Given the description of an element on the screen output the (x, y) to click on. 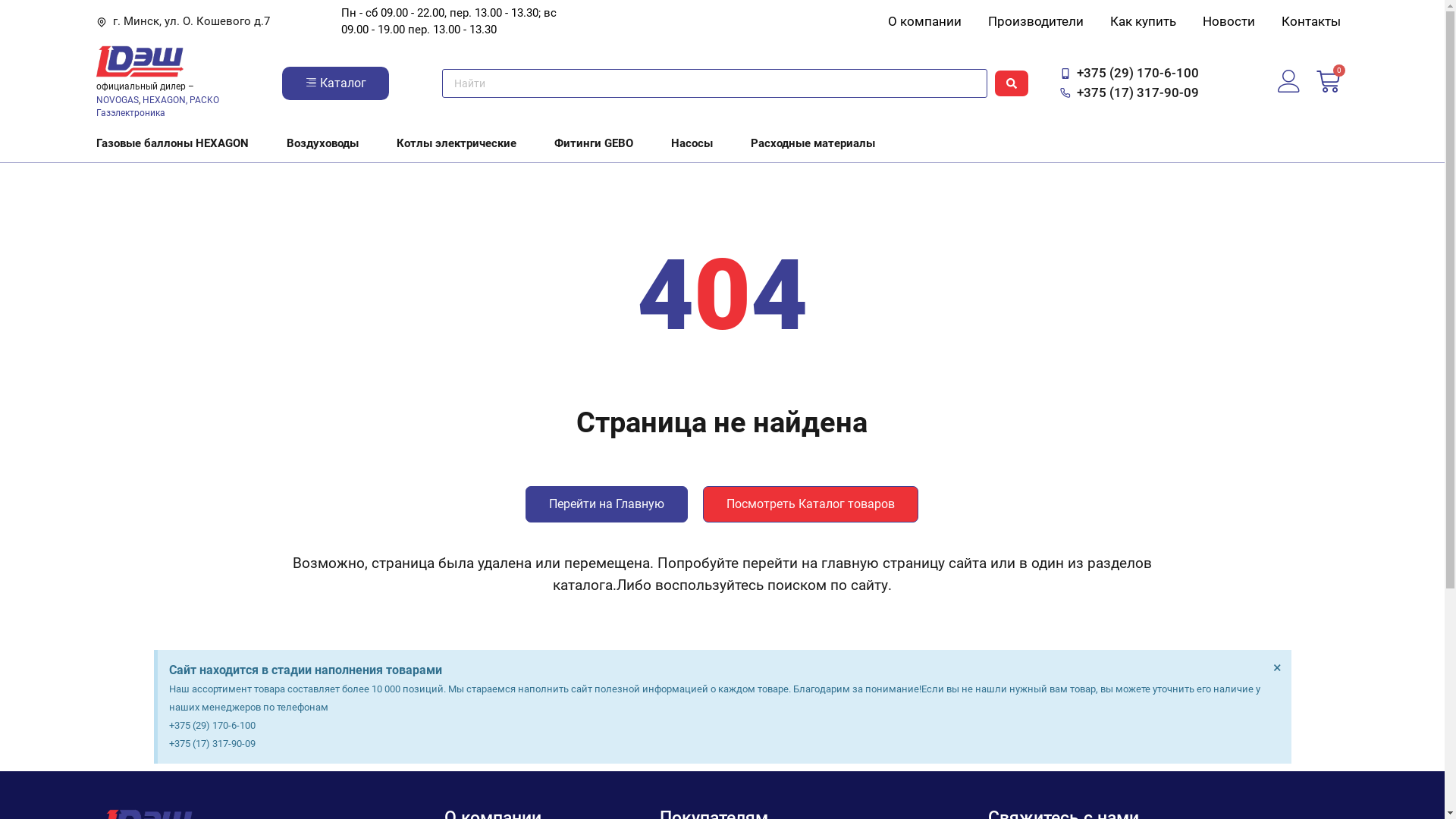
HEXAGON, Element type: text (164, 99)
NOVOGAS Element type: text (117, 99)
+375 (29) 170-6-100 Element type: text (1129, 73)
+375 (17) 317-90-09 Element type: text (1129, 93)
0 Element type: text (1327, 83)
